Given the description of an element on the screen output the (x, y) to click on. 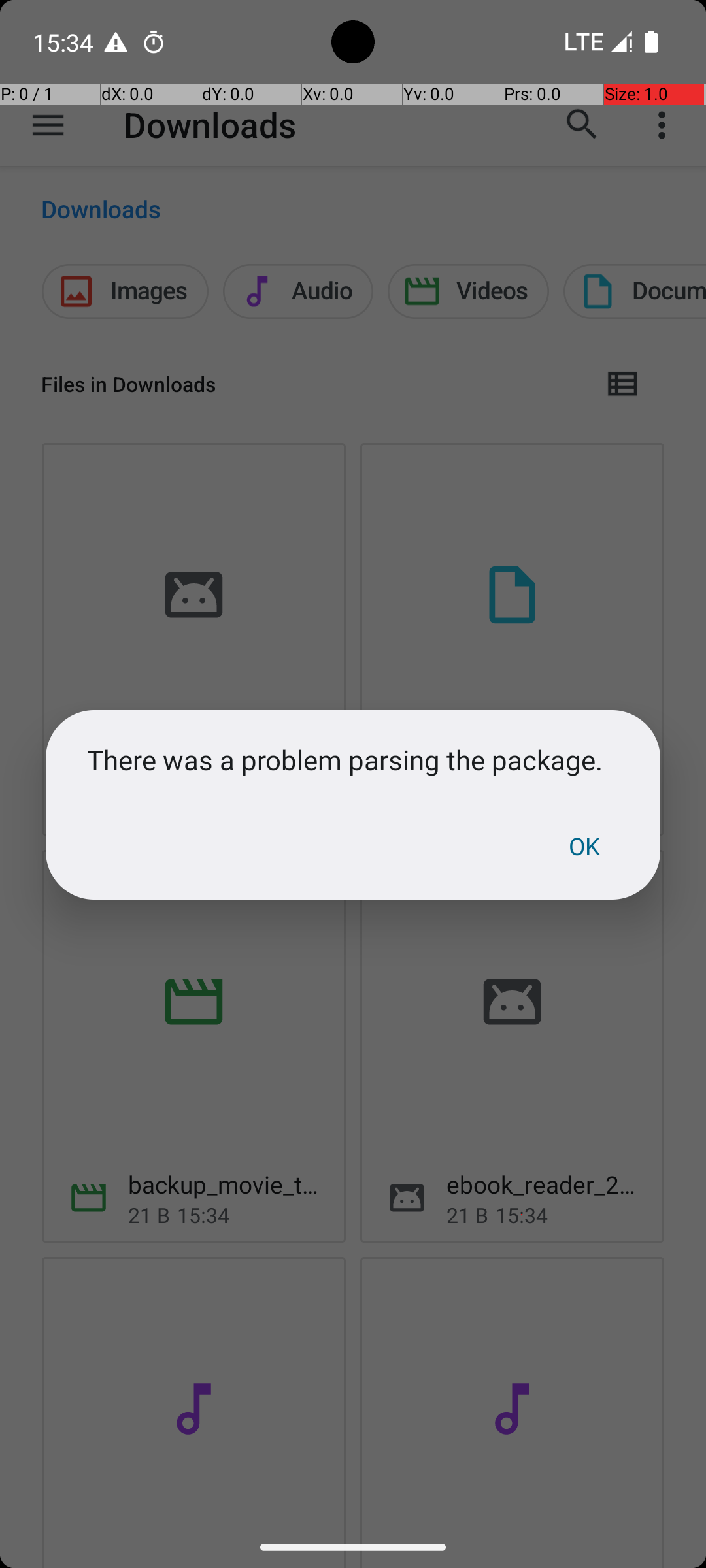
There was a problem parsing the package. Element type: android.widget.TextView (352, 759)
